Given the description of an element on the screen output the (x, y) to click on. 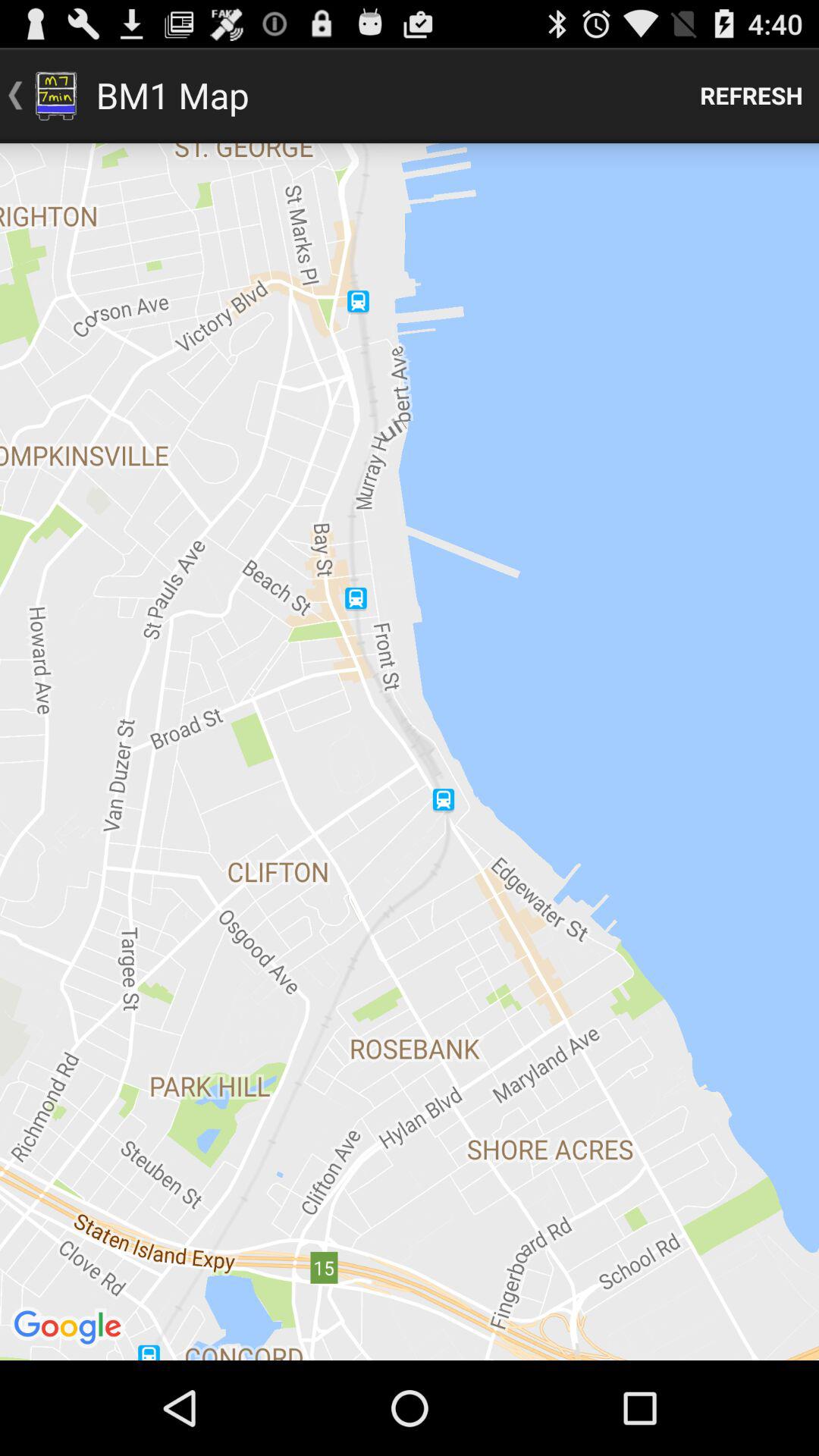
turn off item below refresh (409, 751)
